Given the description of an element on the screen output the (x, y) to click on. 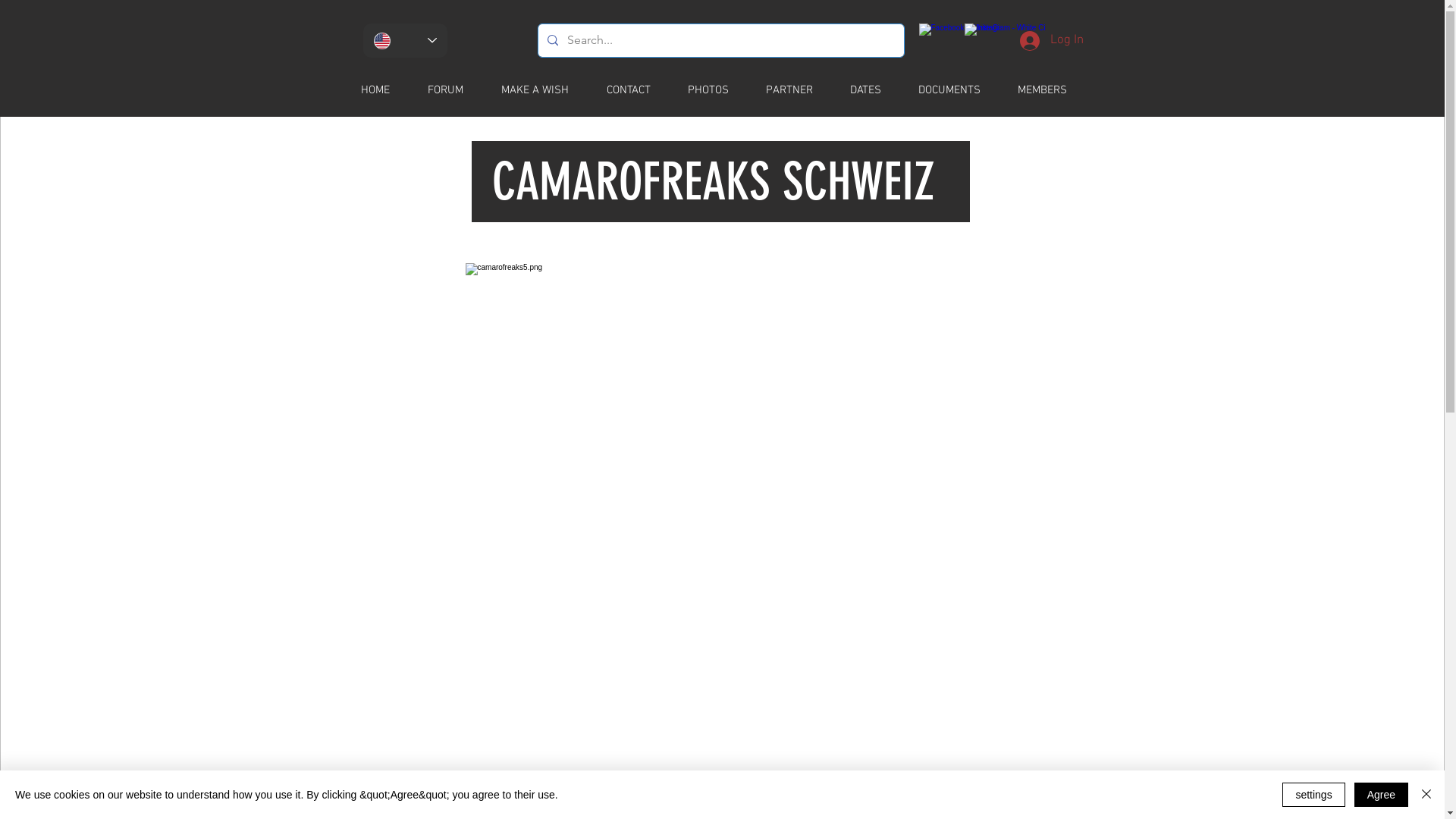
HOME Element type: text (383, 90)
PHOTOS Element type: text (716, 90)
MAKE A WISH Element type: text (543, 90)
DATES Element type: text (874, 90)
Agree Element type: text (1381, 794)
MEMBERS Element type: text (1050, 90)
Visitor Analytics Element type: hover (458, 632)
settings Element type: text (1313, 794)
FORUM Element type: text (453, 90)
DOCUMENTS Element type: text (957, 90)
PARTNER Element type: text (797, 90)
Log In Element type: text (1050, 40)
CONTACT Element type: text (636, 90)
